Given the description of an element on the screen output the (x, y) to click on. 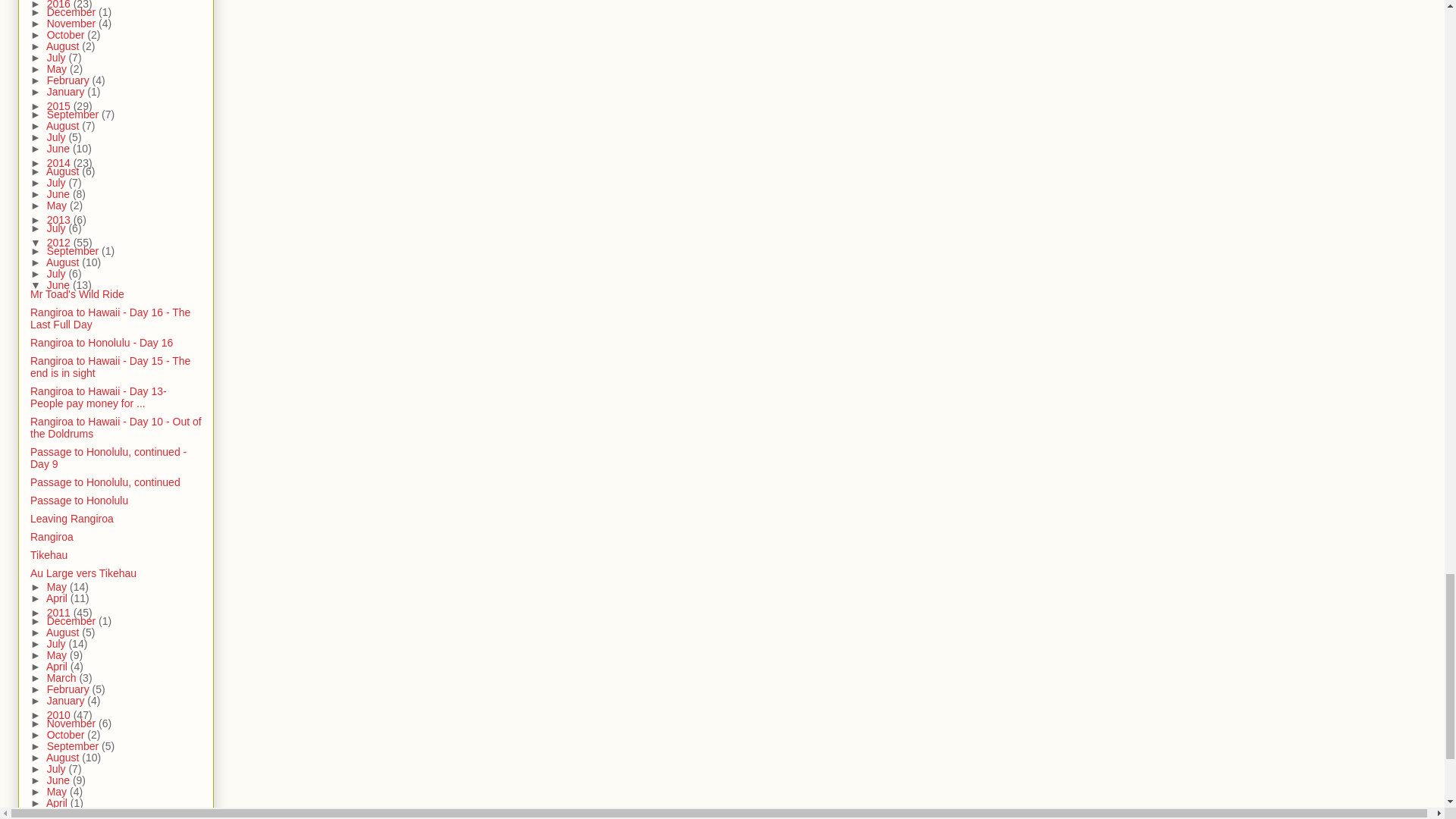
October (66, 34)
November (72, 23)
December (72, 11)
August (63, 46)
July (57, 57)
2016 (60, 4)
